Given the description of an element on the screen output the (x, y) to click on. 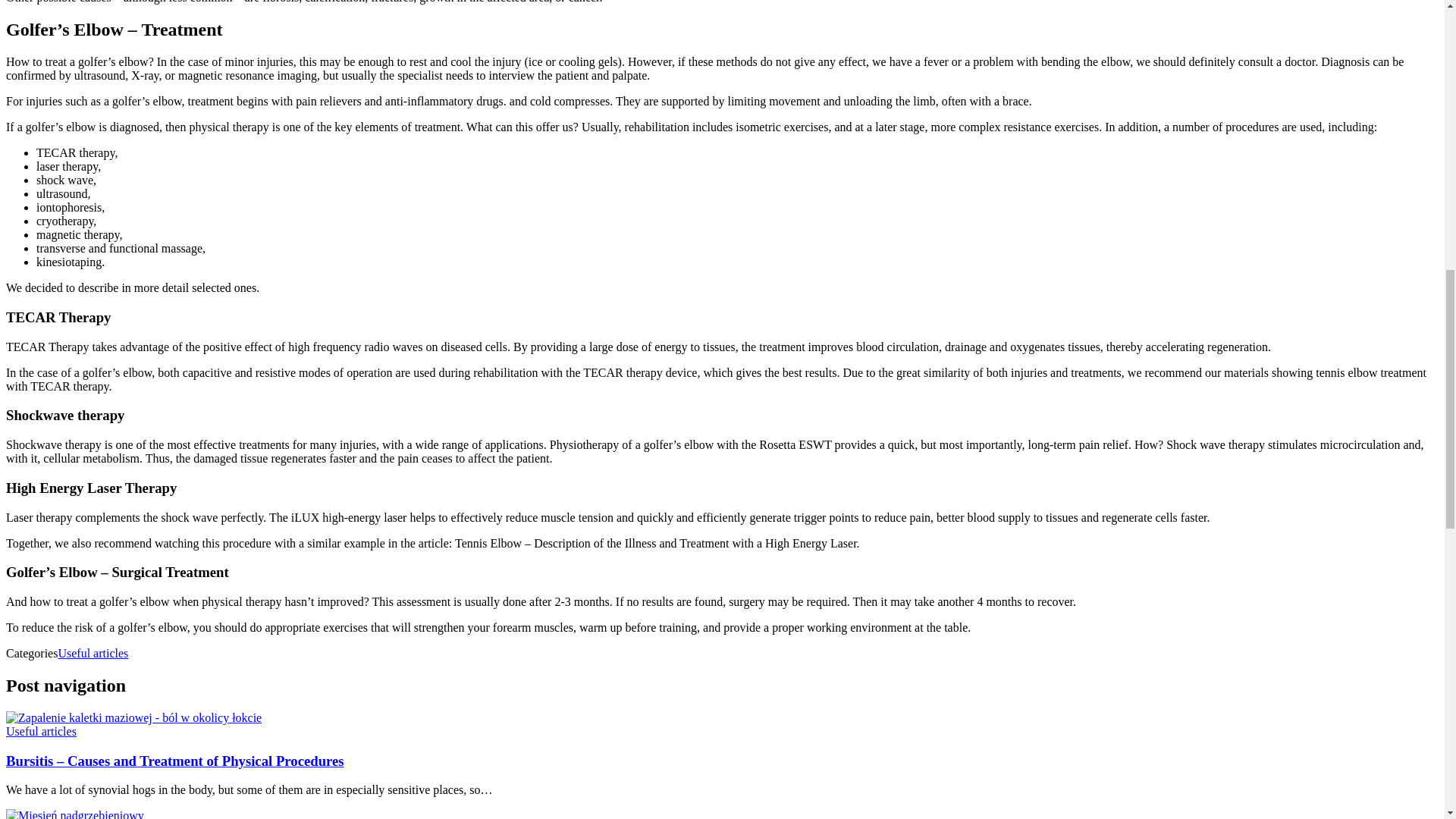
Useful articles (41, 730)
Useful articles (93, 653)
